Given the description of an element on the screen output the (x, y) to click on. 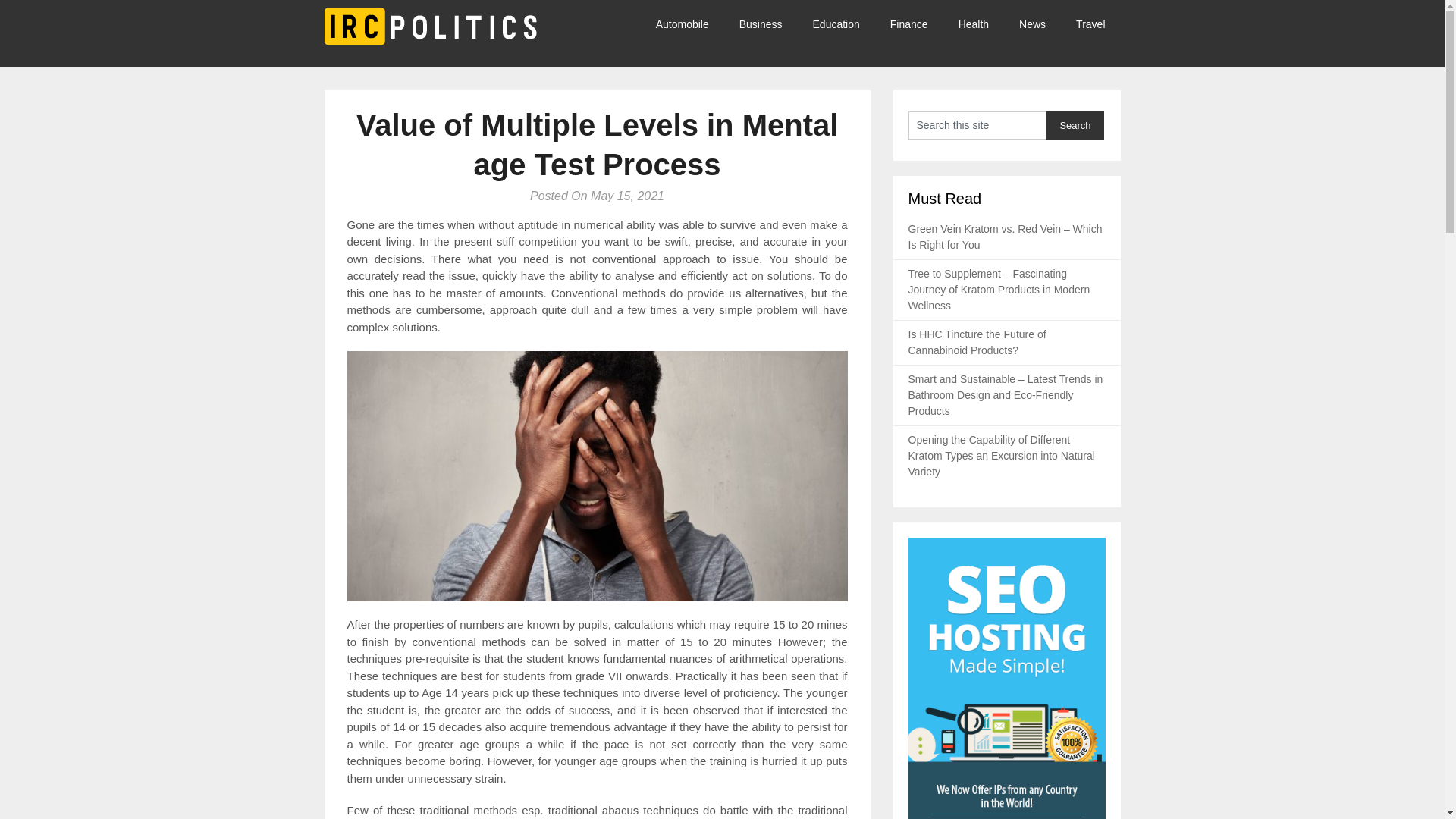
Health (973, 24)
Search (1075, 125)
Is HHC Tincture the Future of Cannabinoid Products? (977, 342)
News (1032, 24)
Search (1075, 125)
Education (836, 24)
Business (760, 24)
Travel (1090, 24)
Automobile (689, 24)
Search this site (977, 125)
